Given the description of an element on the screen output the (x, y) to click on. 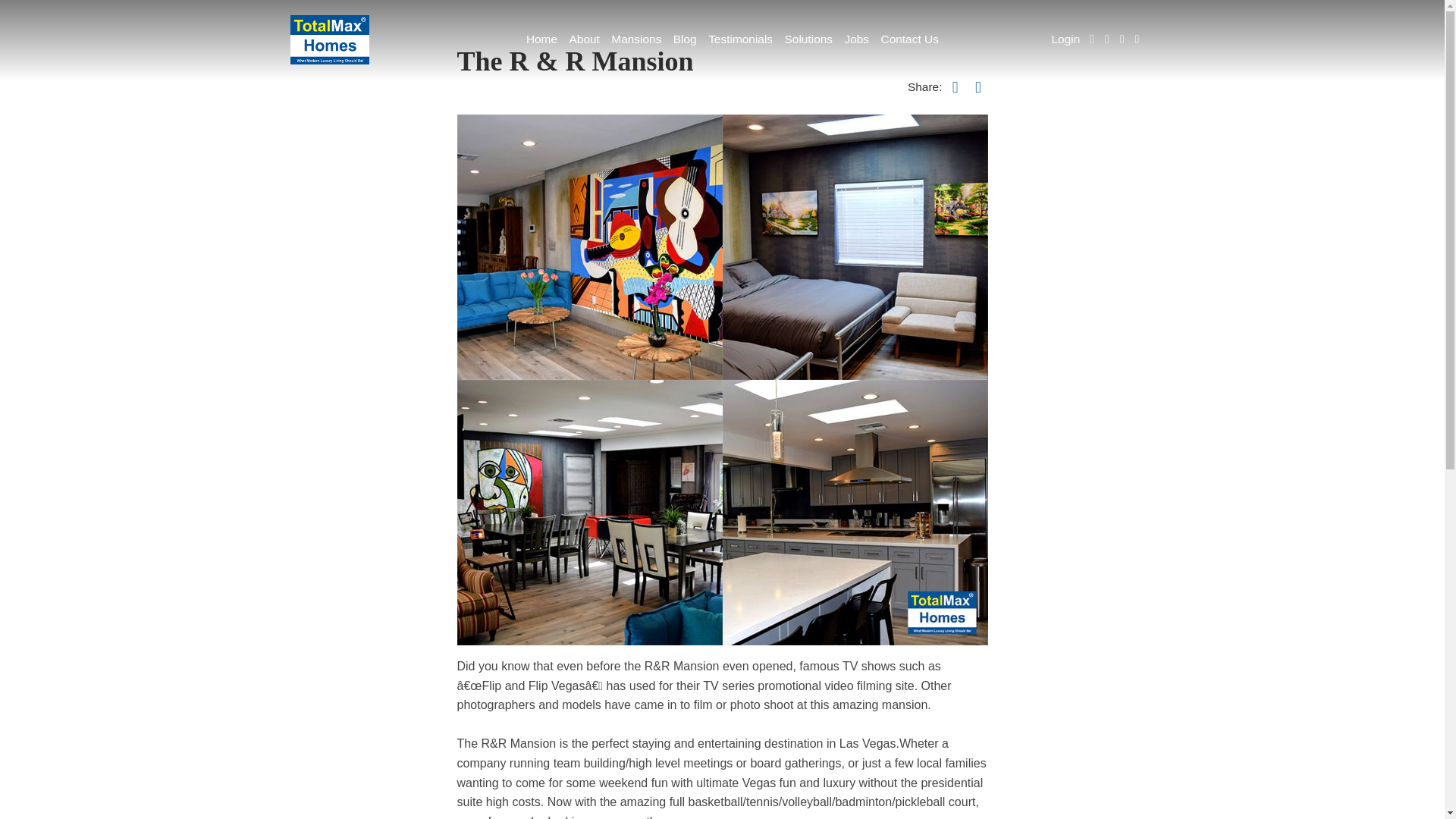
Home (541, 38)
Mansions (636, 38)
Contact Us (909, 38)
About (584, 38)
Jobs (856, 38)
Testimonials (739, 38)
Login (1065, 38)
Solutions (808, 38)
Blog (683, 38)
